Given the description of an element on the screen output the (x, y) to click on. 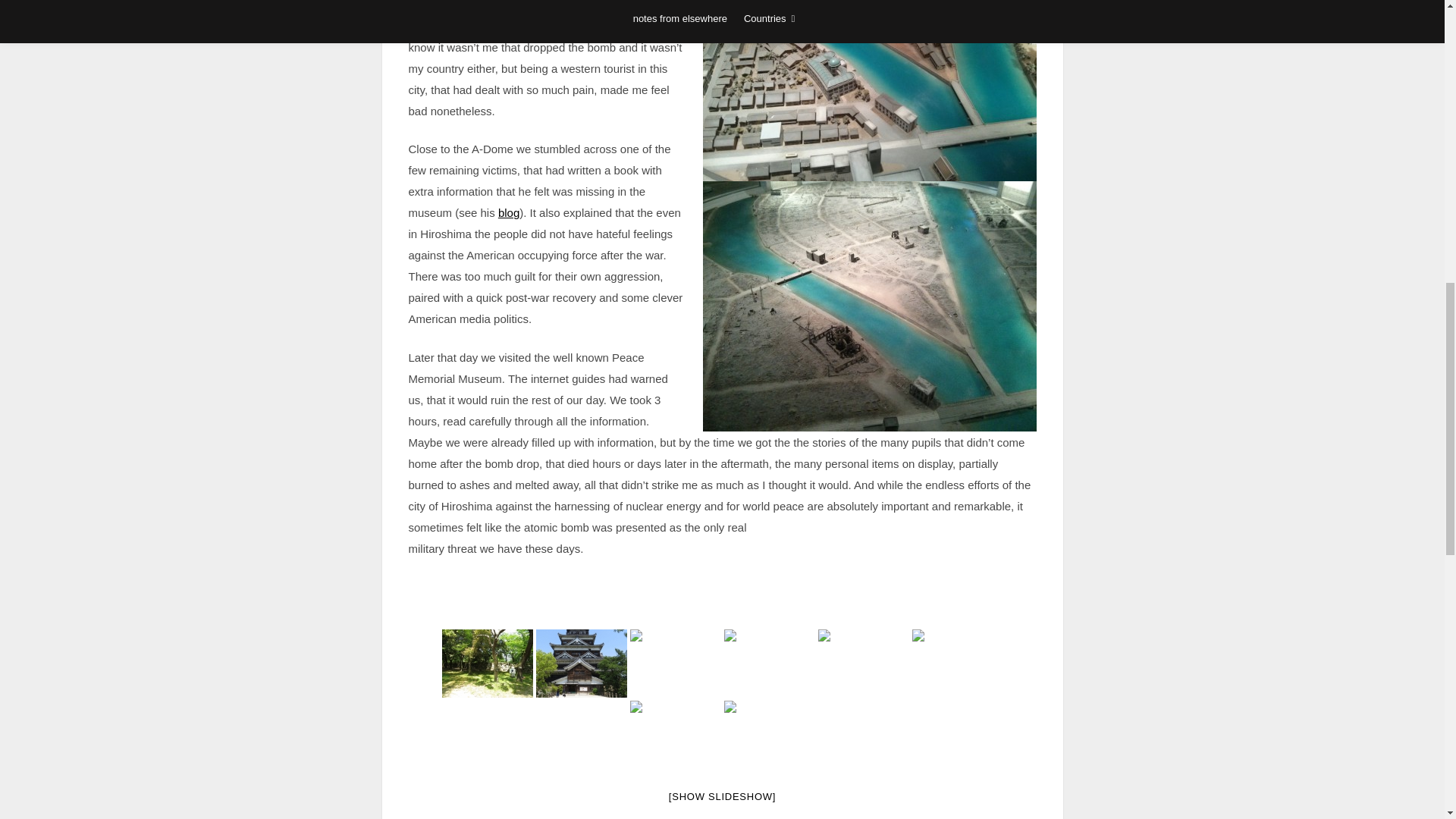
blog (508, 212)
